Given the description of an element on the screen output the (x, y) to click on. 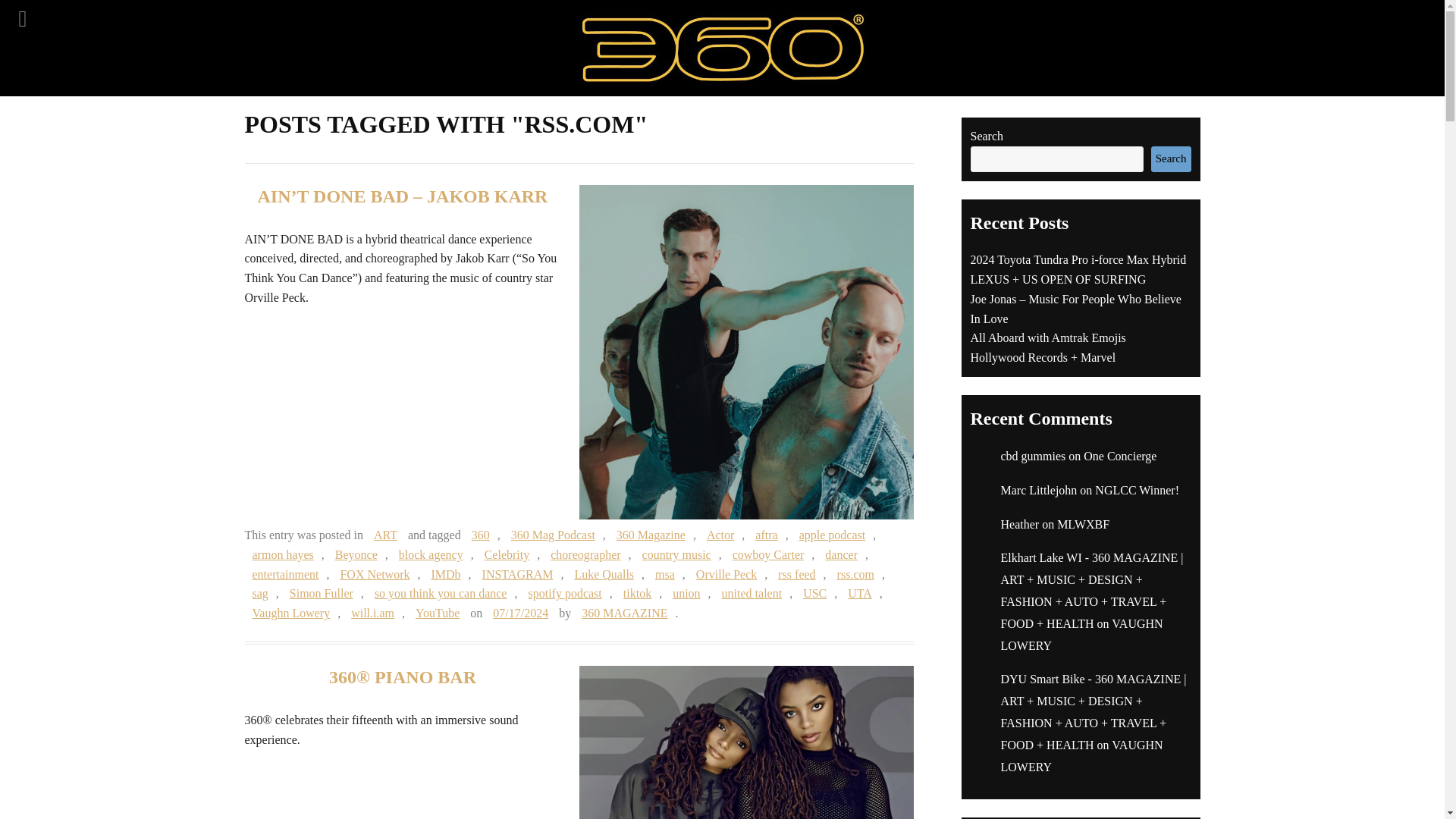
View all posts by 360 MAGAZINE (624, 612)
3:25 pm (520, 612)
